Given the description of an element on the screen output the (x, y) to click on. 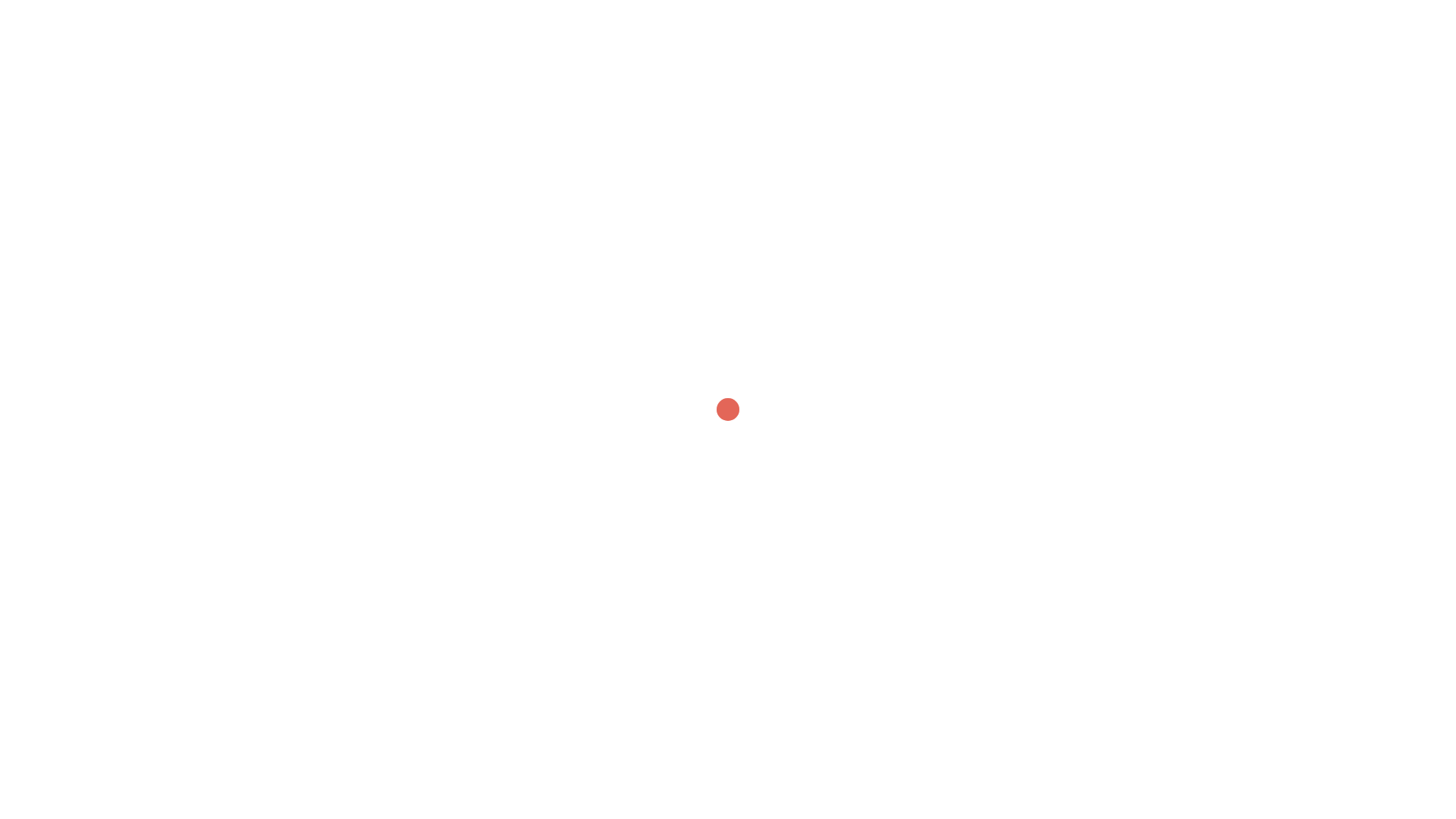
Proudly powered by WordPress Element type: text (385, 505)
24Gone.com Element type: hover (333, 51)
Sydney Element type: text (551, 505)
August 17, 2021 Element type: text (379, 310)
Home Element type: text (939, 52)
Membership Element type: text (1057, 52)
Contact Element type: text (1129, 52)
Hello world! Element type: text (374, 279)
About Element type: text (990, 52)
Leave a comment Element type: text (485, 310)
